Given the description of an element on the screen output the (x, y) to click on. 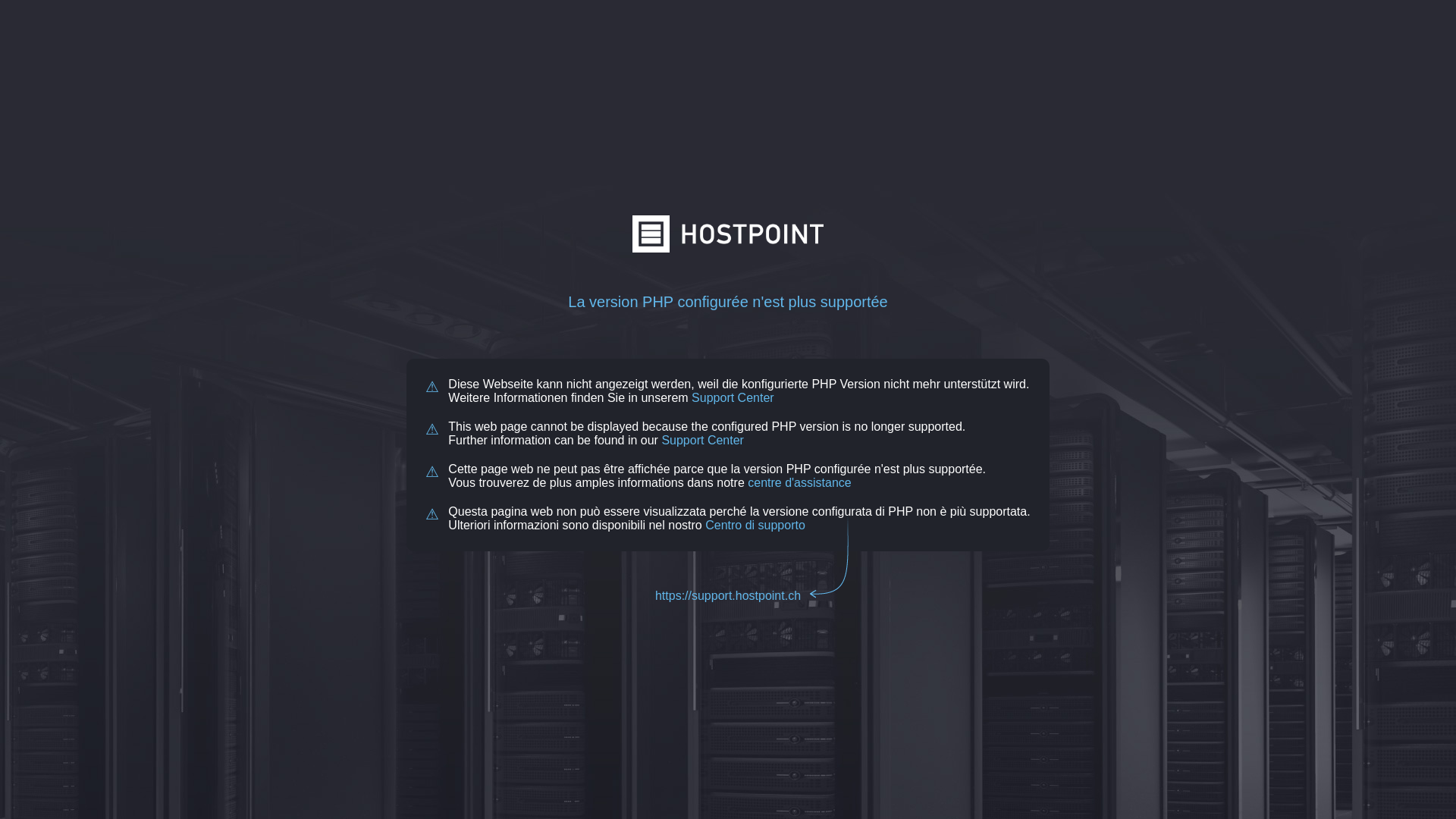
Support Center (732, 397)
centre d'assistance (799, 481)
Centro di supporto (754, 524)
Support Center (702, 440)
